Given the description of an element on the screen output the (x, y) to click on. 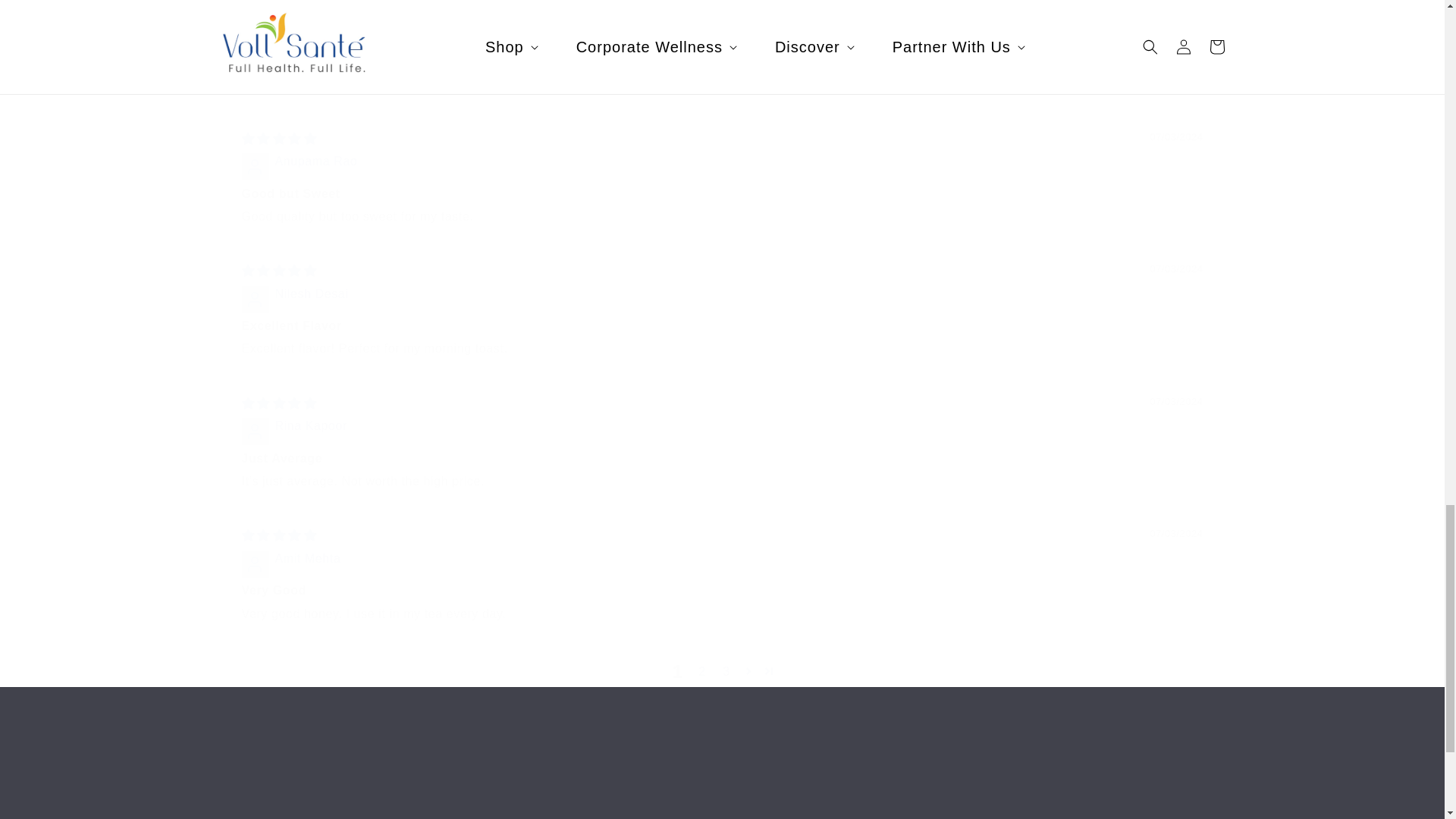
About US (721, 782)
tel:022-47499012 (249, 815)
